Given the description of an element on the screen output the (x, y) to click on. 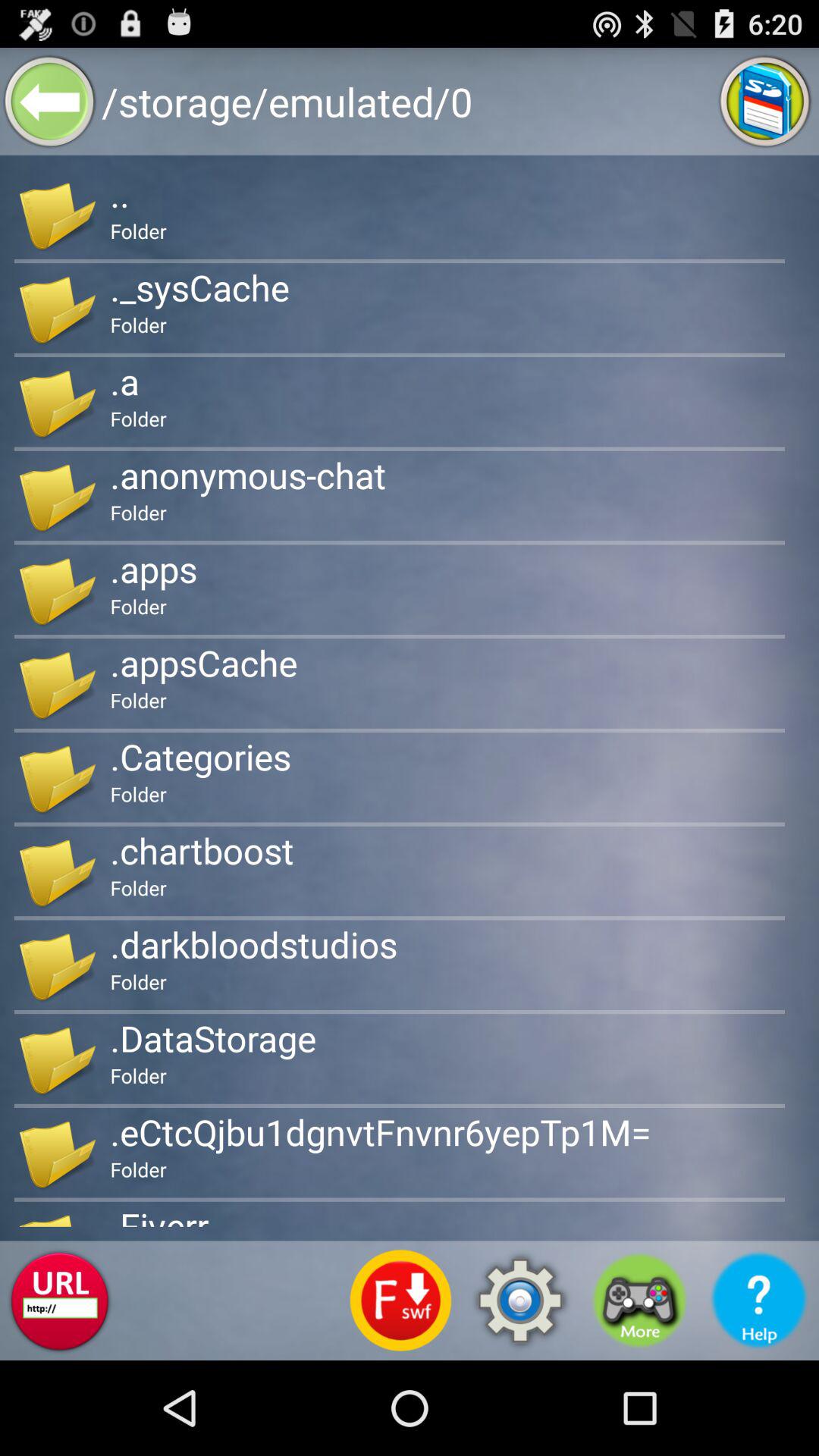
view sd card storage (765, 101)
